Given the description of an element on the screen output the (x, y) to click on. 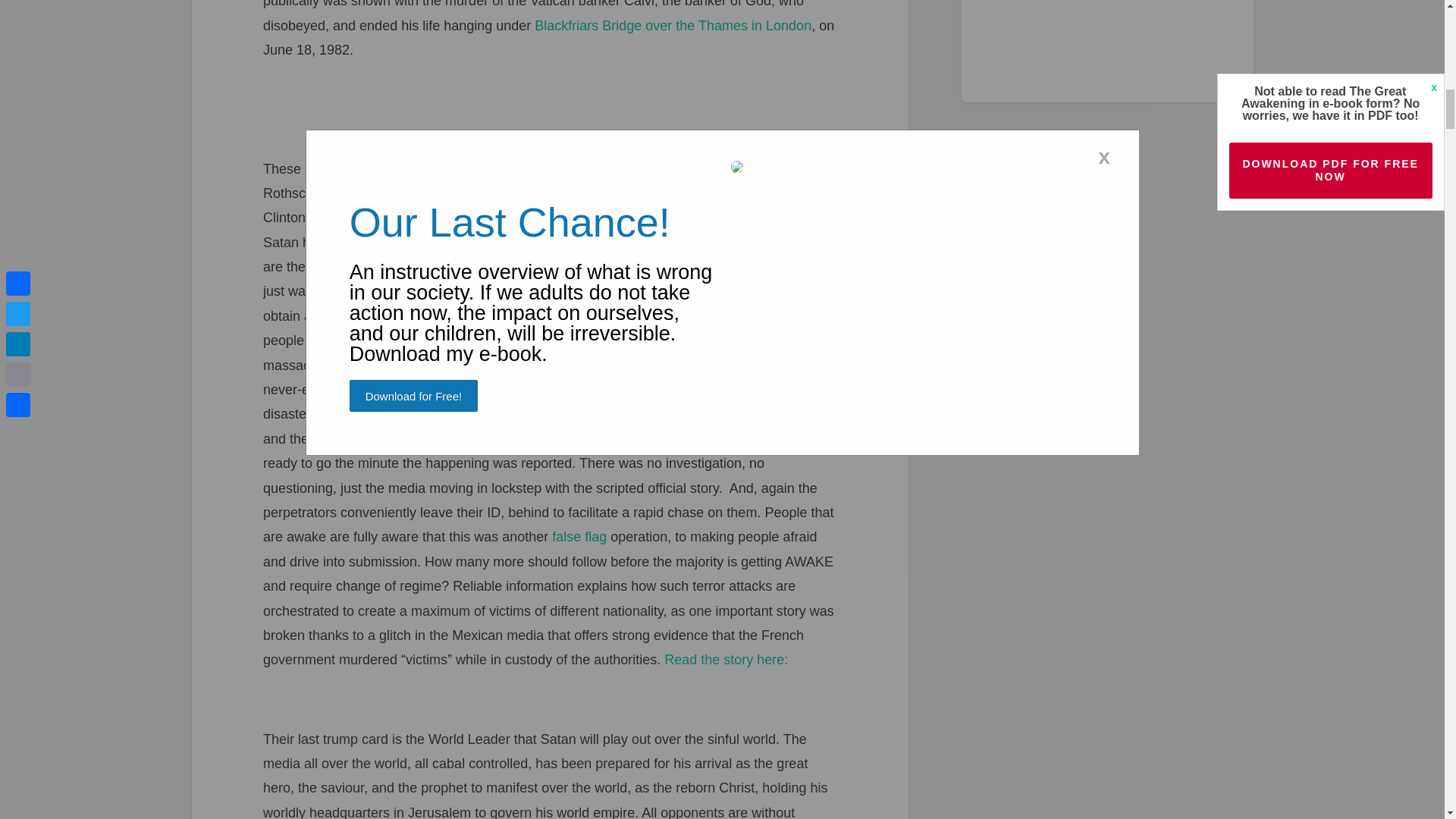
false flag (579, 536)
Read the story here: (725, 659)
Blackfriars Bridge over the Thames in London (672, 25)
